Given the description of an element on the screen output the (x, y) to click on. 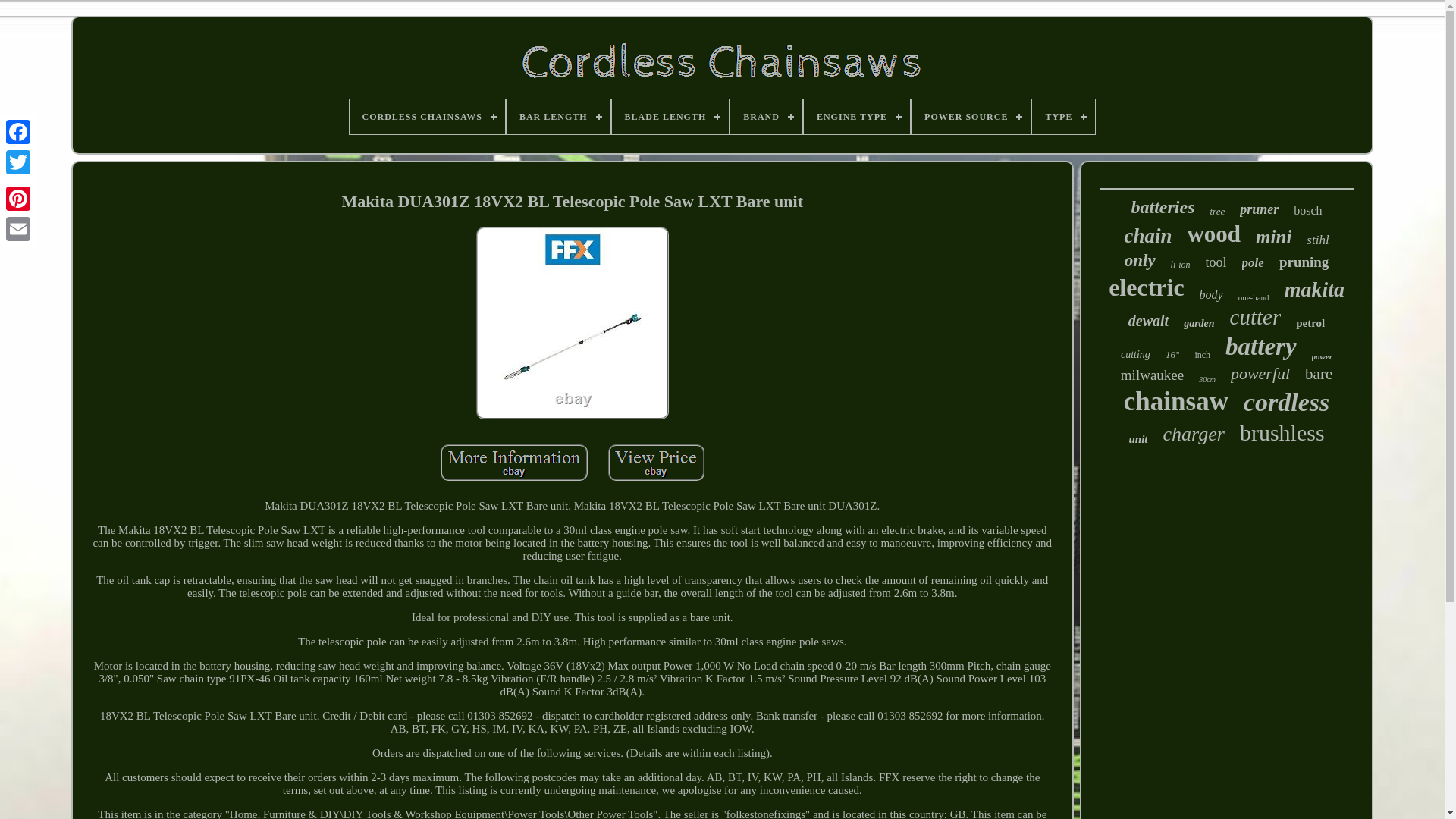
Makita DUA301Z 18VX2 BL Telescopic Pole Saw LXT Bare unit (514, 462)
BLADE LENGTH (670, 116)
BAR LENGTH (558, 116)
CORDLESS CHAINSAWS (427, 116)
Makita DUA301Z 18VX2 BL Telescopic Pole Saw LXT Bare unit (572, 322)
Makita DUA301Z 18VX2 BL Telescopic Pole Saw LXT Bare unit (656, 462)
